Given the description of an element on the screen output the (x, y) to click on. 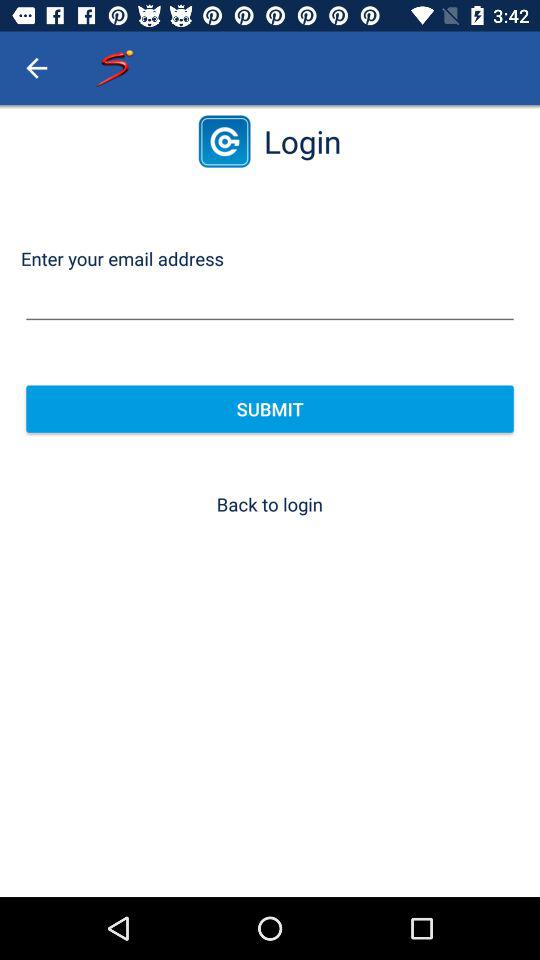
enter email address (270, 300)
